Given the description of an element on the screen output the (x, y) to click on. 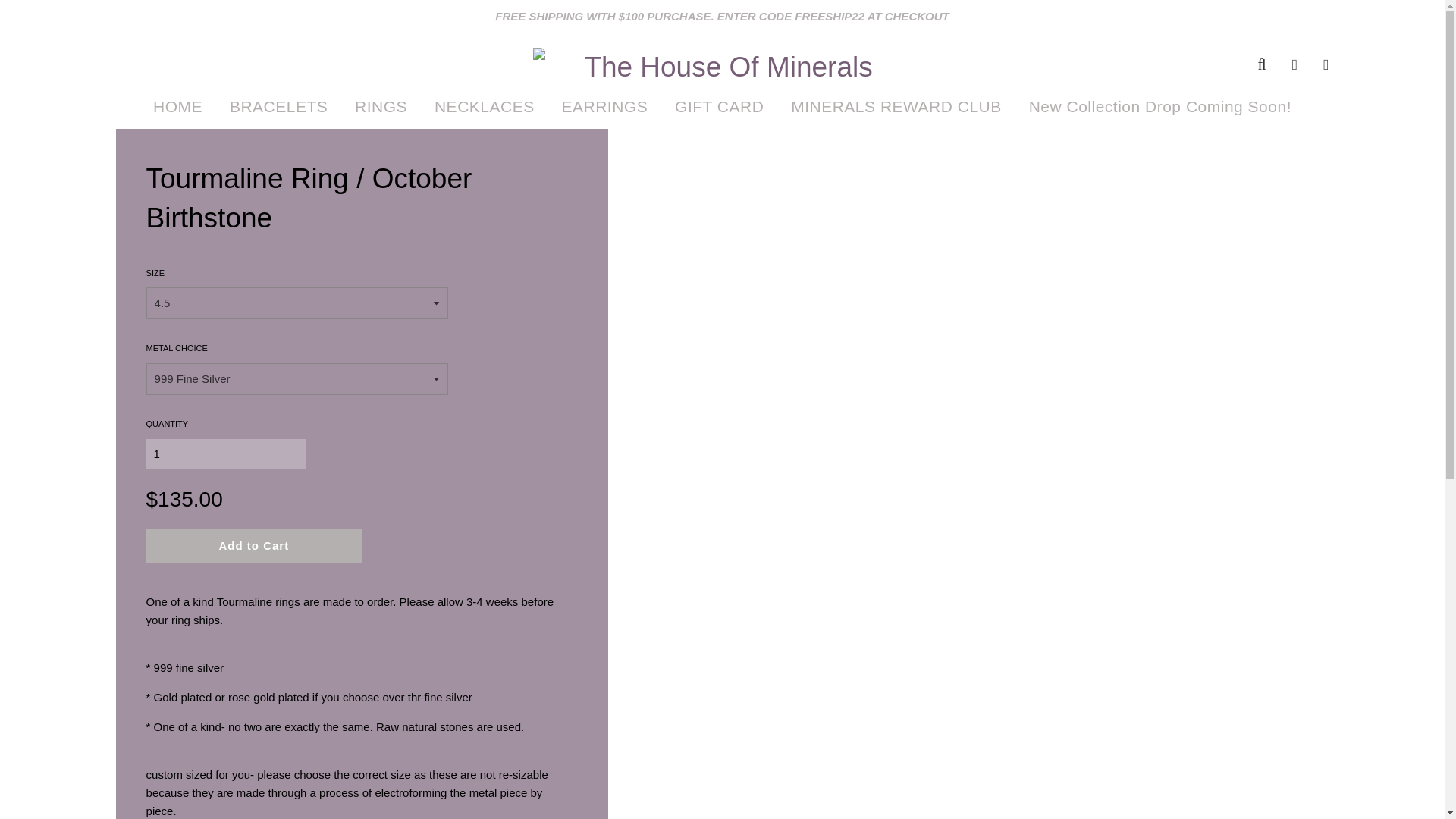
EARRINGS (604, 106)
MINERALS REWARD CLUB (895, 106)
GIFT CARD (718, 106)
BRACELETS (278, 106)
NECKLACES (484, 106)
HOME (177, 106)
RINGS (381, 106)
1 (226, 453)
New Collection Drop Coming Soon! (1154, 106)
Log in (1294, 63)
Add to Cart (254, 545)
